Given the description of an element on the screen output the (x, y) to click on. 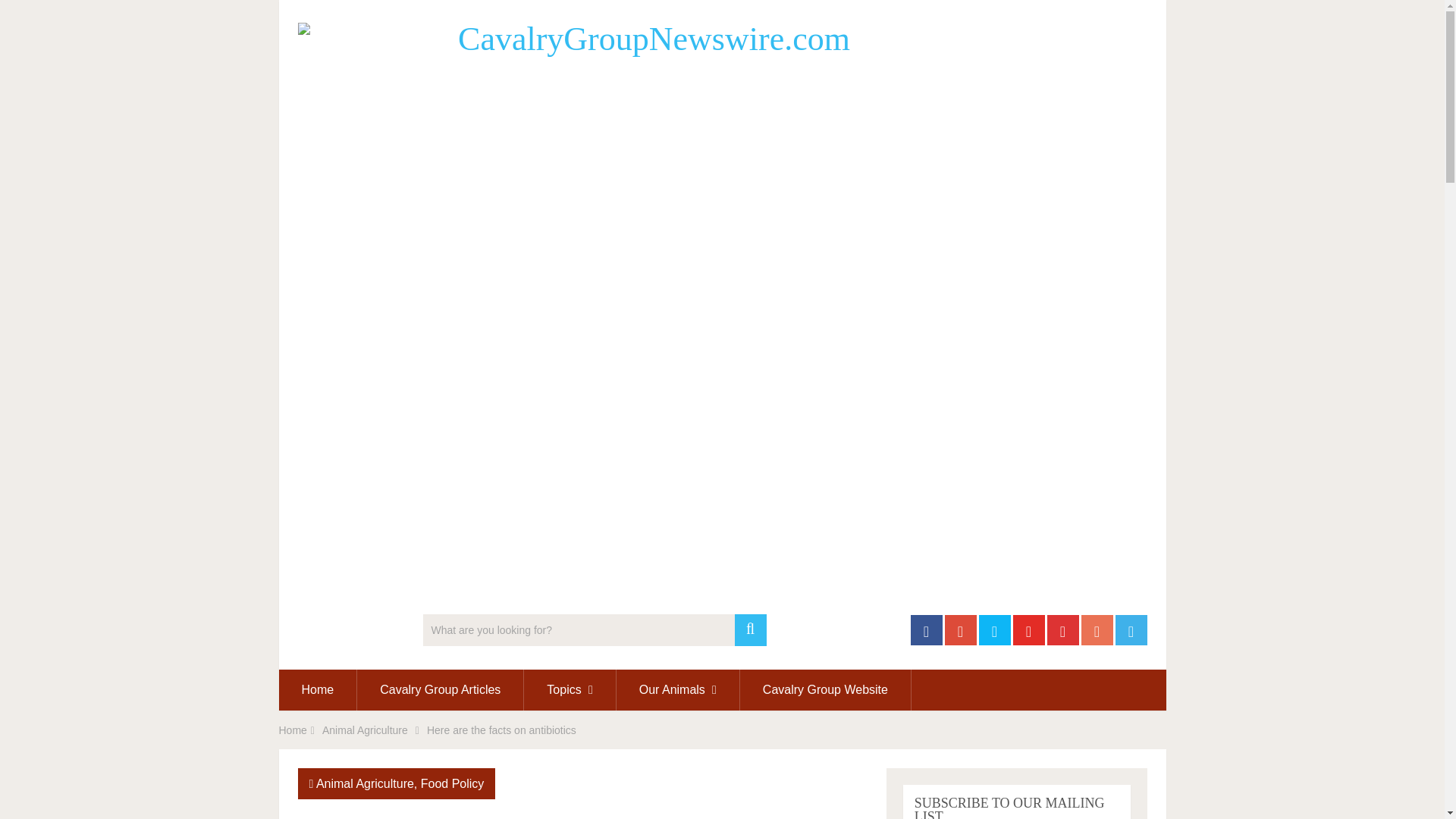
View all posts in Animal Agriculture (364, 783)
Cavalry Group Articles (439, 689)
View all posts in Food Policy (452, 783)
Topics (569, 689)
Cavalry Group Website (825, 689)
Our Animals (677, 689)
Home (317, 689)
